Given the description of an element on the screen output the (x, y) to click on. 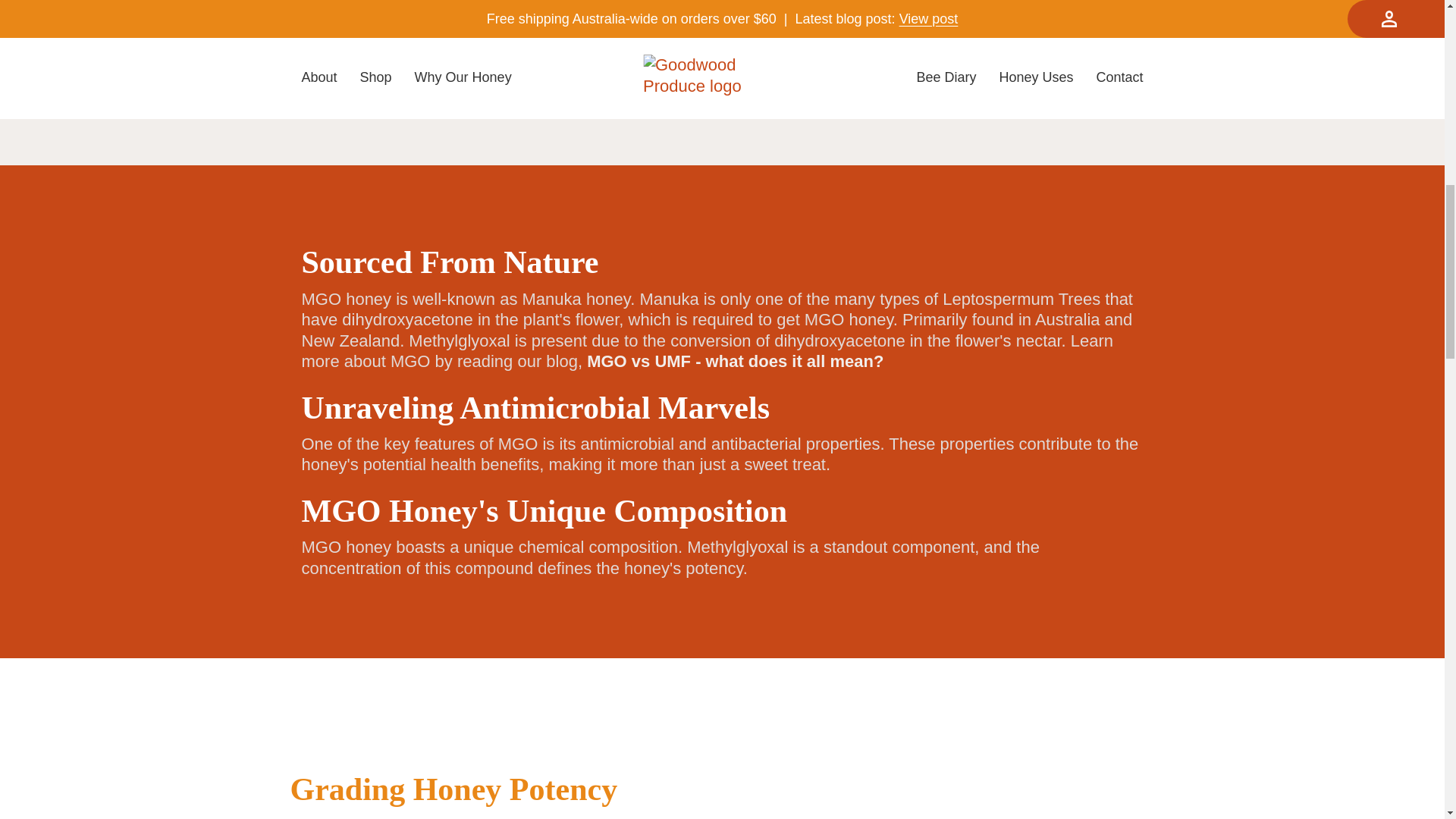
MGO vs UMF - what does it all mean? (734, 361)
